Given the description of an element on the screen output the (x, y) to click on. 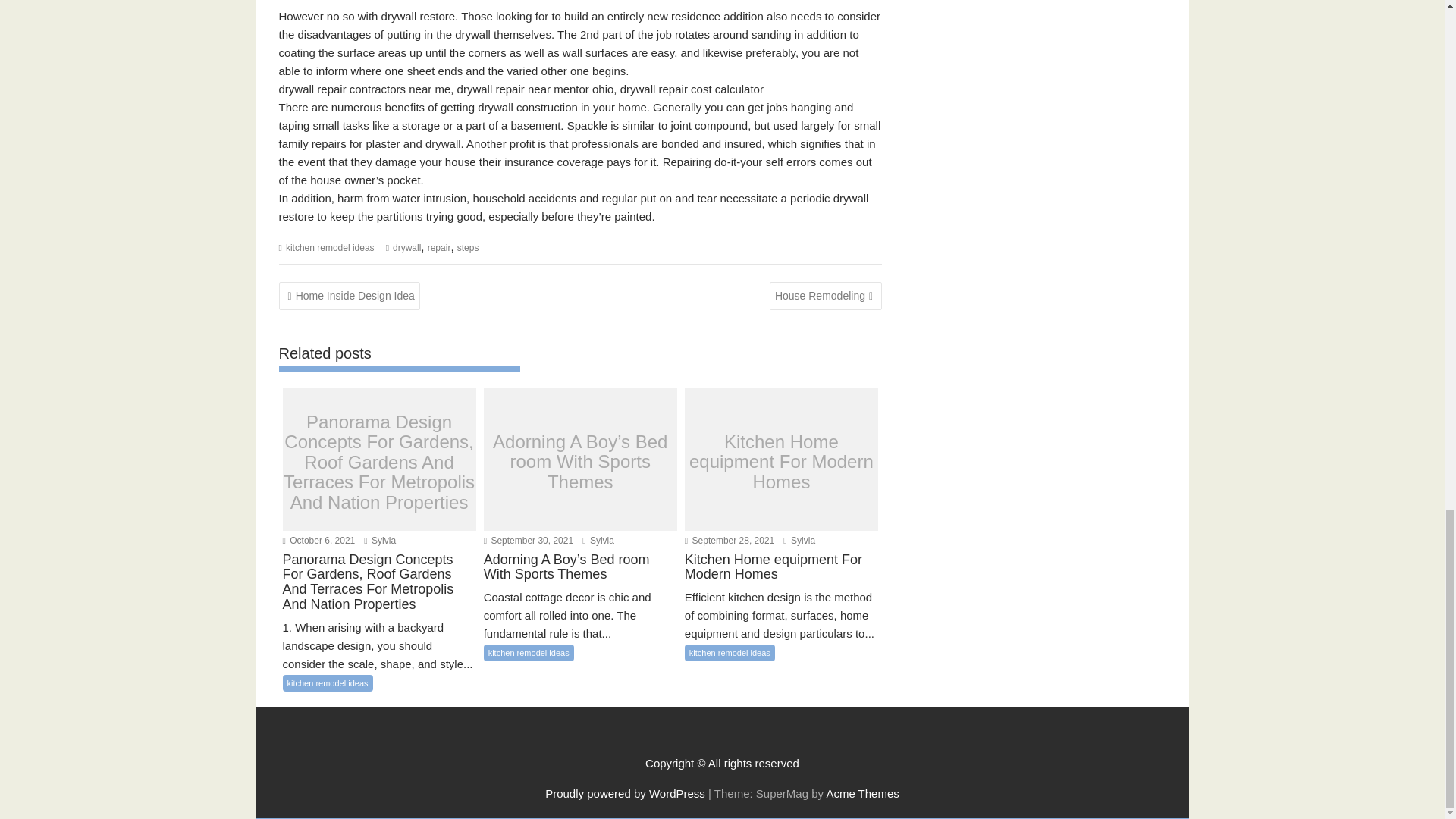
Sylvia (598, 540)
Sylvia (799, 540)
Sylvia (380, 540)
